Given the description of an element on the screen output the (x, y) to click on. 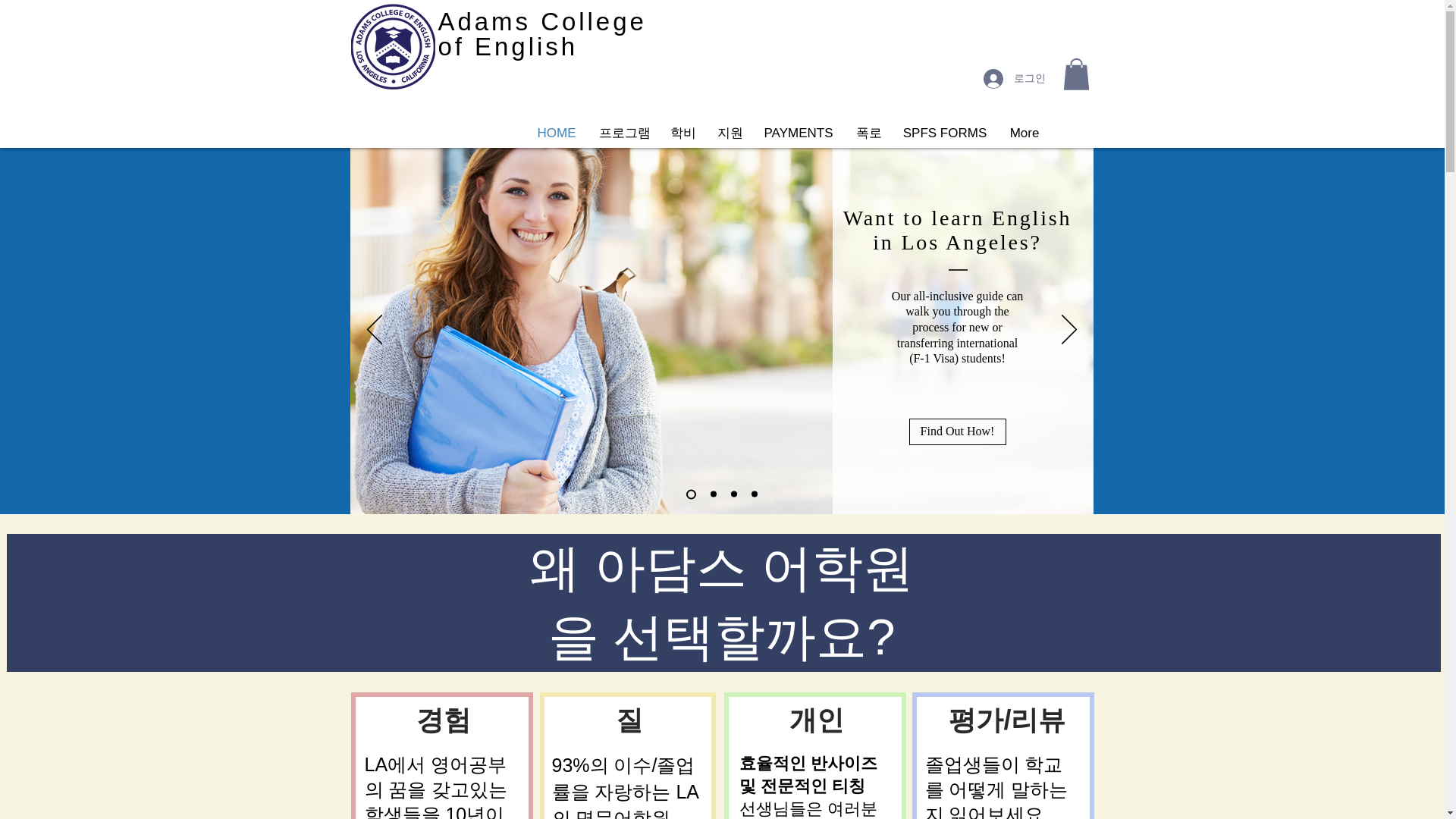
PAYMENTS (798, 132)
SPFS FORMS (944, 132)
Find Out How! (957, 431)
HOME (556, 132)
Adams College of English (542, 33)
